Given the description of an element on the screen output the (x, y) to click on. 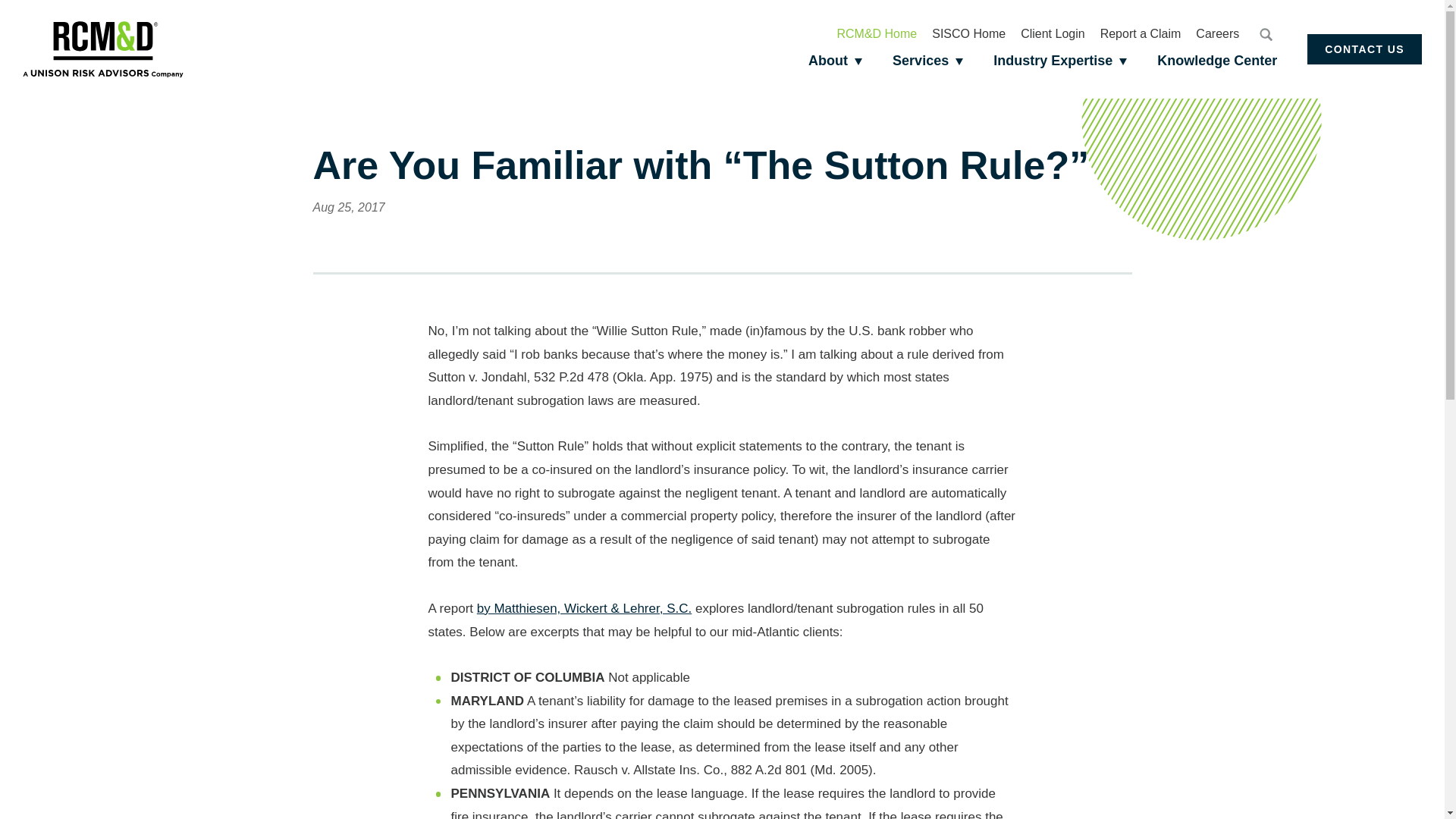
Knowledge Center (1216, 60)
homepage (103, 48)
Client Login (1052, 33)
Careers (1217, 33)
Services (927, 60)
Report a Claim (1140, 33)
About (835, 60)
SISCO Home (968, 33)
Industry Expertise (1059, 60)
